Given the description of an element on the screen output the (x, y) to click on. 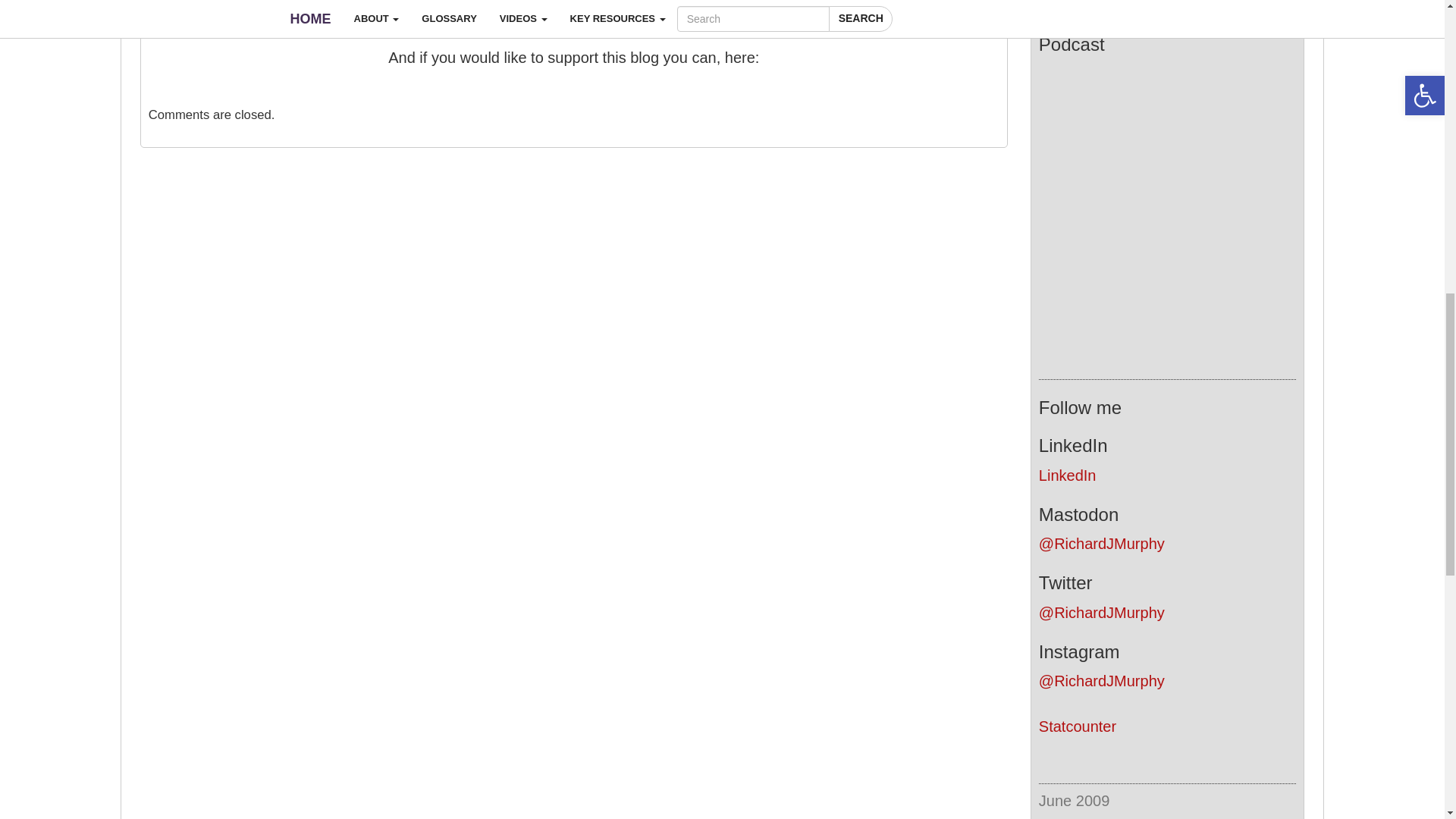
Subscribe (1166, 4)
